Given the description of an element on the screen output the (x, y) to click on. 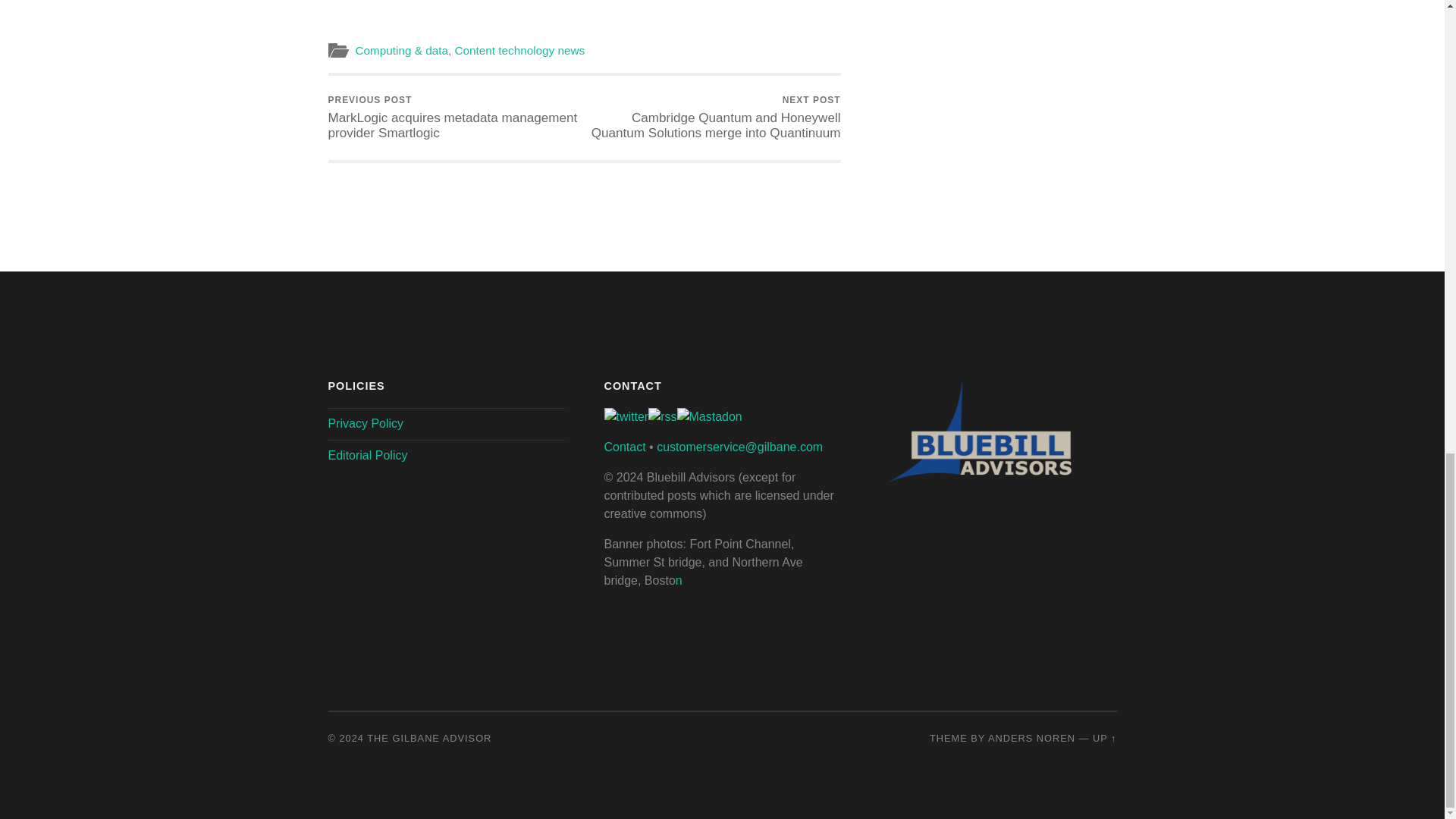
Mastadon-logo-purple-32x34 (709, 416)
To the top (1104, 737)
Gilbane twitter feed (625, 416)
